Given the description of an element on the screen output the (x, y) to click on. 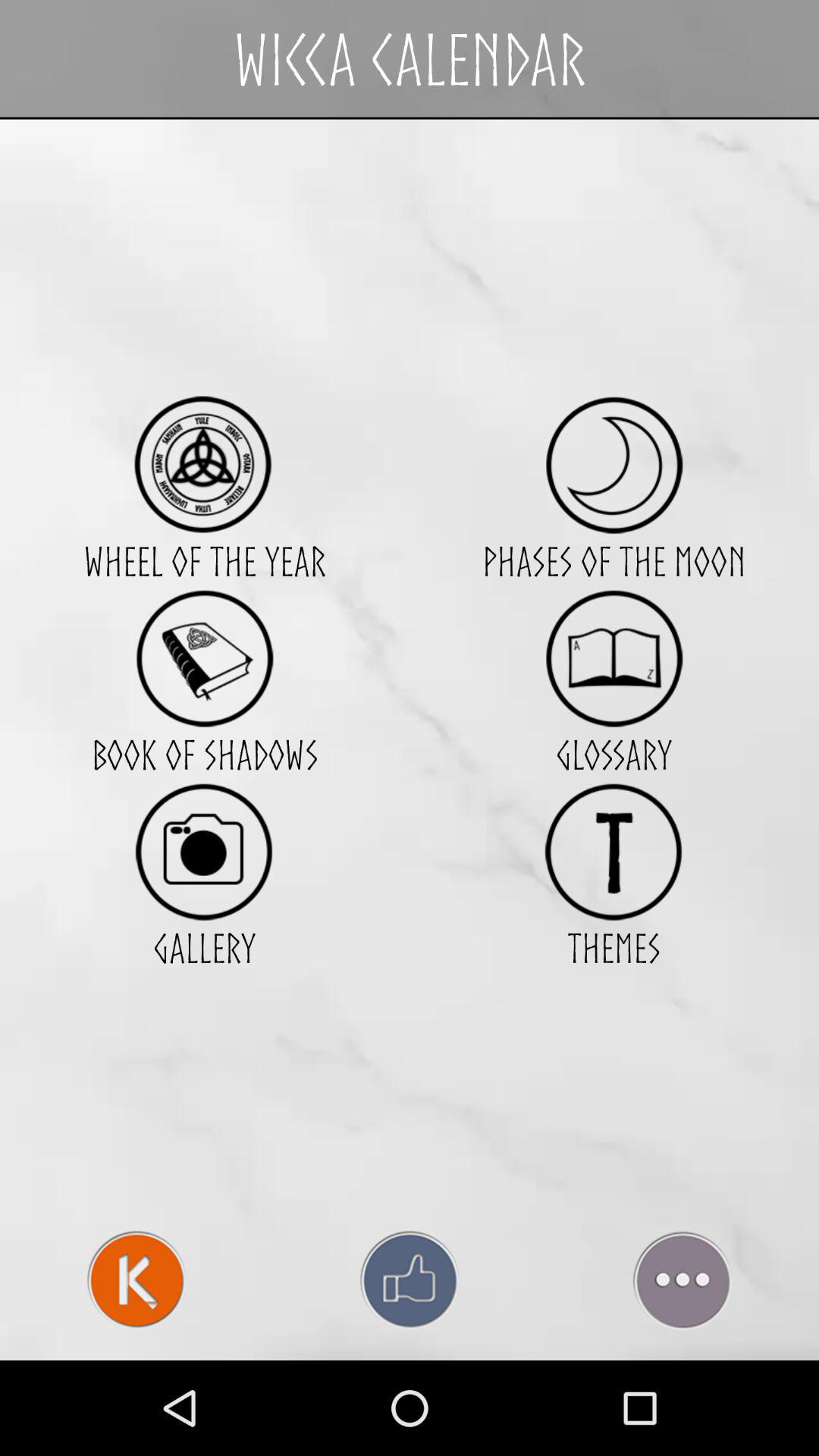
select the item below the gallery icon (409, 1280)
